Given the description of an element on the screen output the (x, y) to click on. 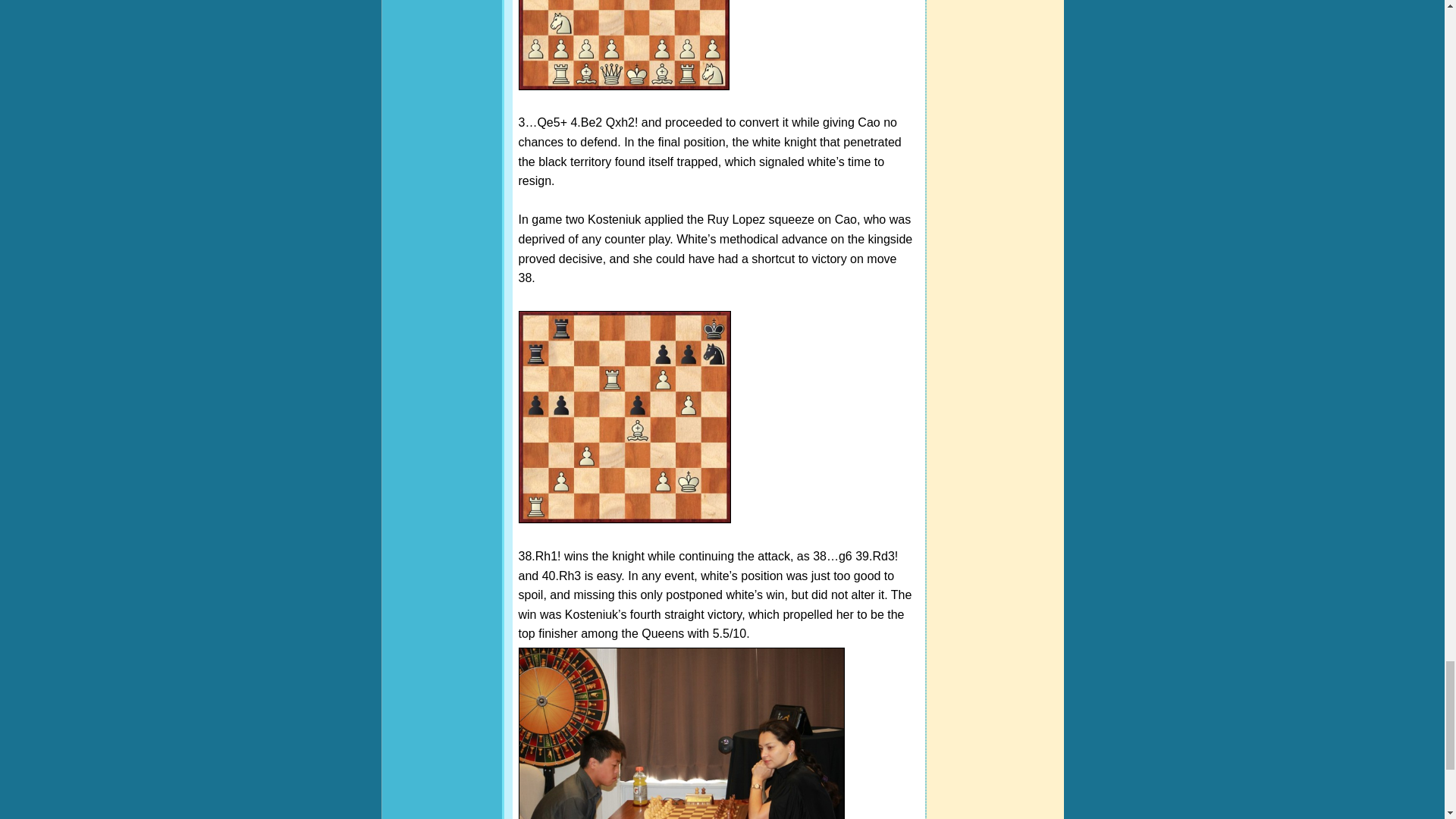
KosteniukCao.jpg (624, 417)
CaoKosteniuk.jpg (623, 45)
